Given the description of an element on the screen output the (x, y) to click on. 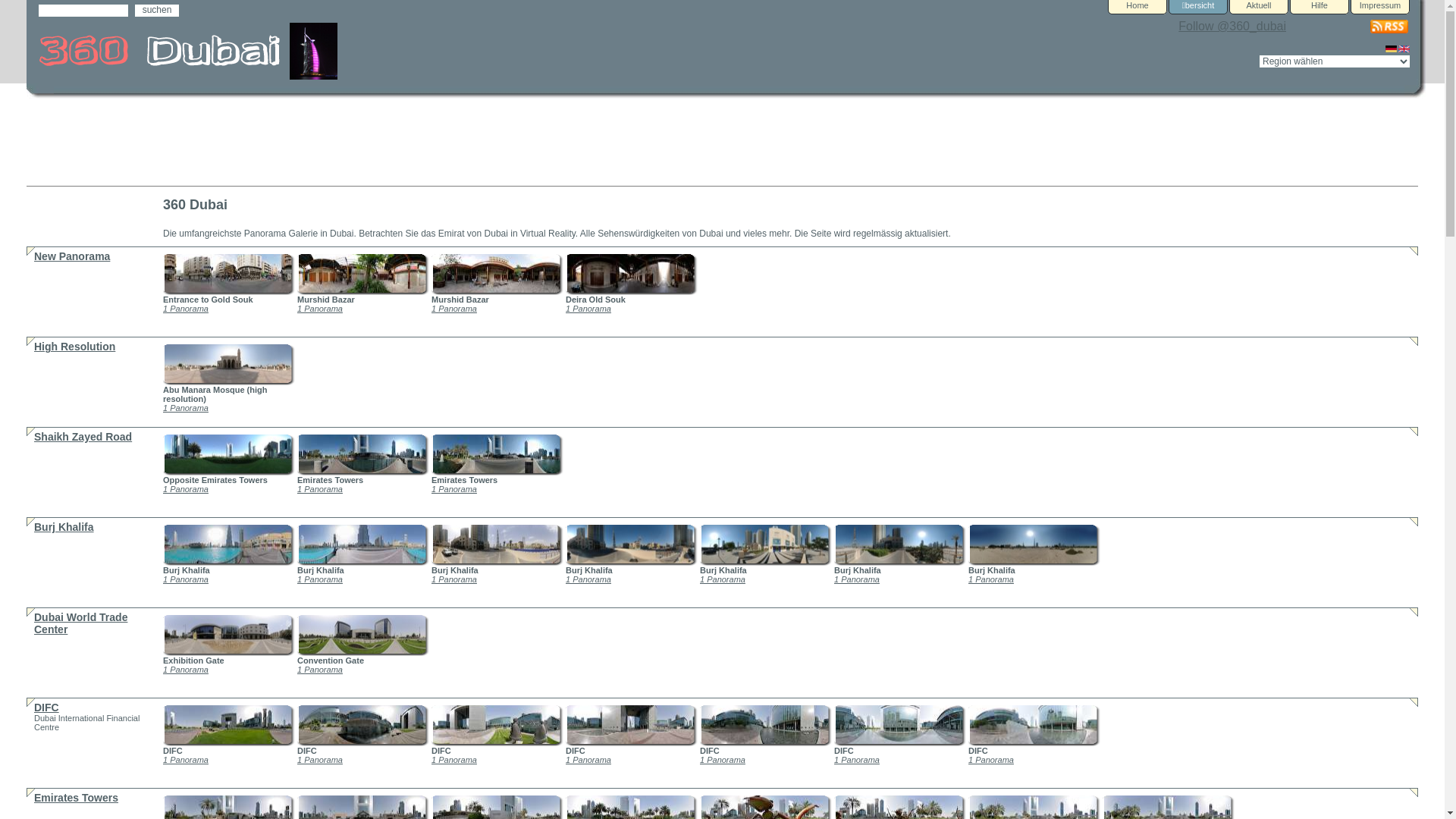
1 Panorama Element type: text (185, 759)
1 Panorama Element type: text (453, 488)
1 Panorama Element type: text (185, 578)
1 Panorama Element type: text (588, 759)
DIFC Element type: text (46, 707)
1 Panorama Element type: text (319, 578)
1 Panorama Element type: text (185, 488)
1 Panorama Element type: text (990, 759)
1 Panorama Element type: text (588, 308)
Impressum Element type: text (1379, 8)
Follow @360_dubai Element type: text (1232, 25)
1 Panorama Element type: text (856, 578)
1 Panorama Element type: text (319, 669)
High Resolution Element type: text (74, 346)
Aktuell Element type: text (1258, 8)
Burj Khalifa Element type: text (64, 526)
1 Panorama Element type: text (588, 578)
1 Panorama Element type: text (319, 308)
Hilfe Element type: text (1319, 8)
1 Panorama Element type: text (722, 759)
1 Panorama Element type: text (319, 488)
1 Panorama Element type: text (453, 578)
1 Panorama Element type: text (856, 759)
1 Panorama Element type: text (185, 669)
Shaikh Zayed Road Element type: text (82, 436)
1 Panorama Element type: text (722, 578)
Dubai World Trade Center Element type: text (80, 623)
Home Element type: text (1137, 8)
1 Panorama Element type: text (990, 578)
1 Panorama Element type: text (453, 308)
1 Panorama Element type: text (453, 759)
1 Panorama Element type: text (185, 308)
suchen Element type: text (156, 10)
New Panorama Element type: text (71, 256)
1 Panorama Element type: text (185, 407)
1 Panorama Element type: text (319, 759)
Emirates Towers Element type: text (76, 797)
